Given the description of an element on the screen output the (x, y) to click on. 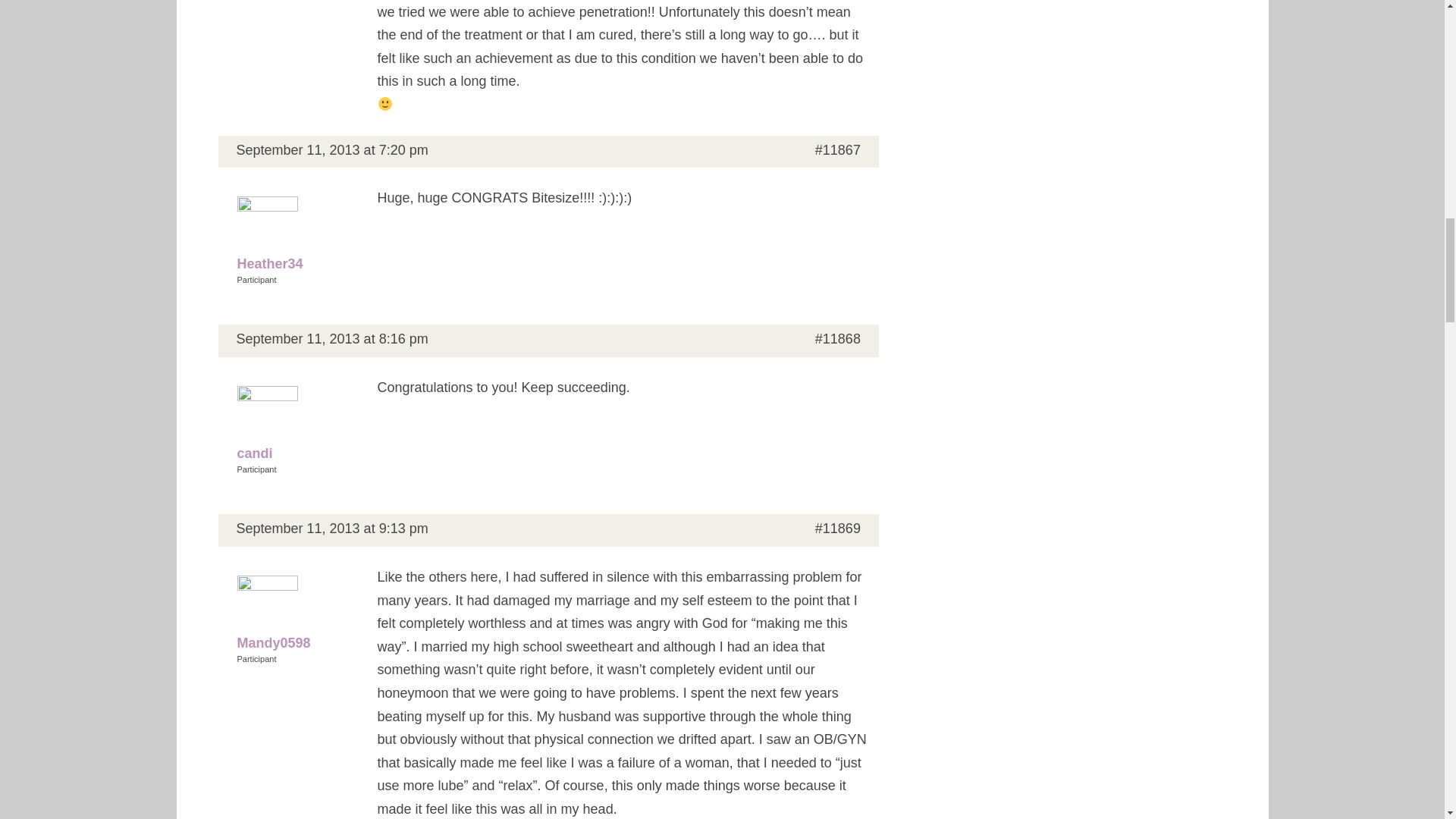
View Heather34's profile (296, 235)
View candi's profile (296, 425)
View Mandy0598's profile (296, 614)
